Given the description of an element on the screen output the (x, y) to click on. 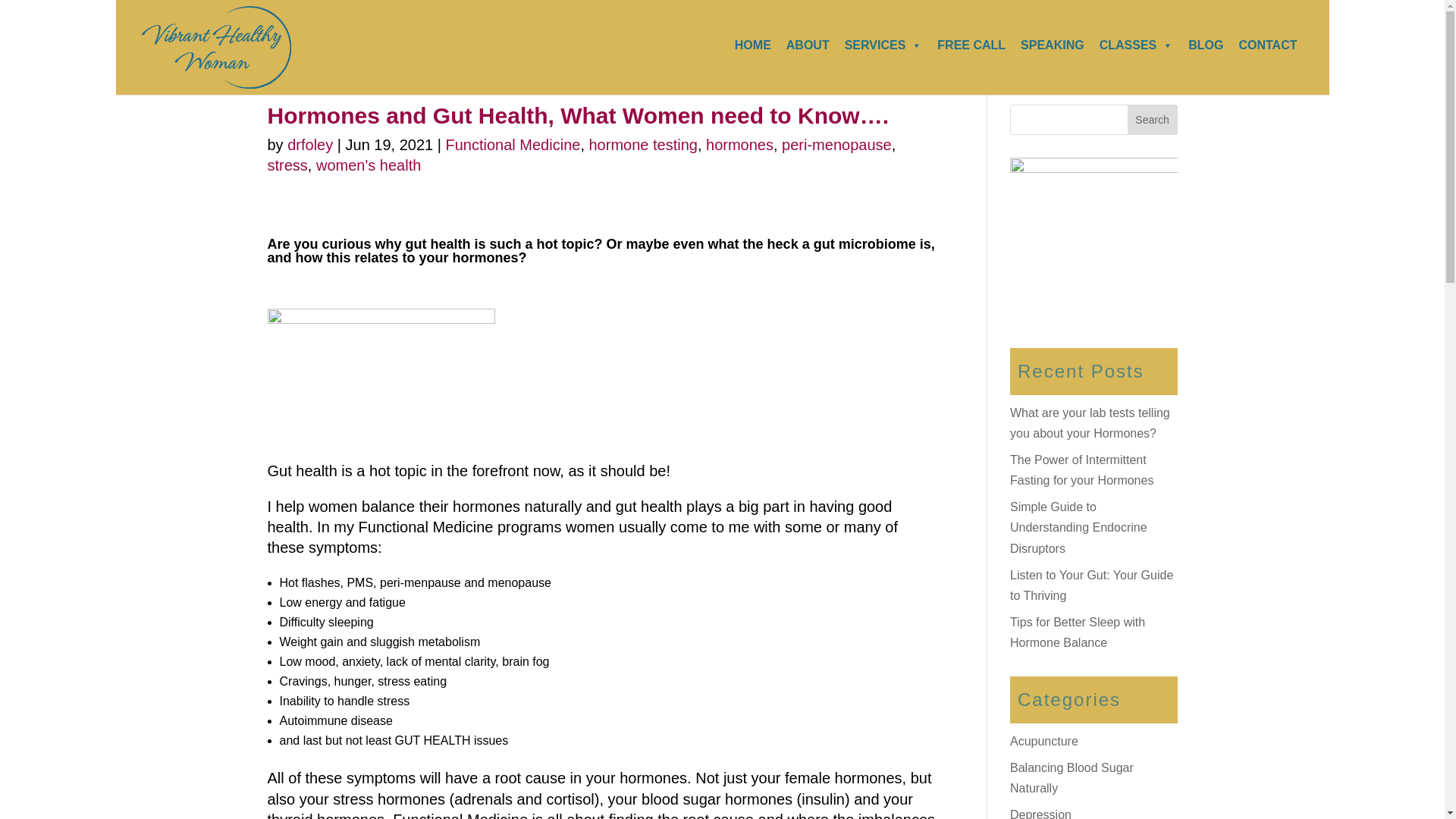
peri-menopause (836, 144)
FREE CALL (971, 45)
ABOUT (807, 45)
hormones (739, 144)
women's health (367, 165)
SPEAKING (1052, 45)
Functional Medicine (512, 144)
Posts by drfoley (309, 144)
hormone testing (642, 144)
drfoley (309, 144)
